Given the description of an element on the screen output the (x, y) to click on. 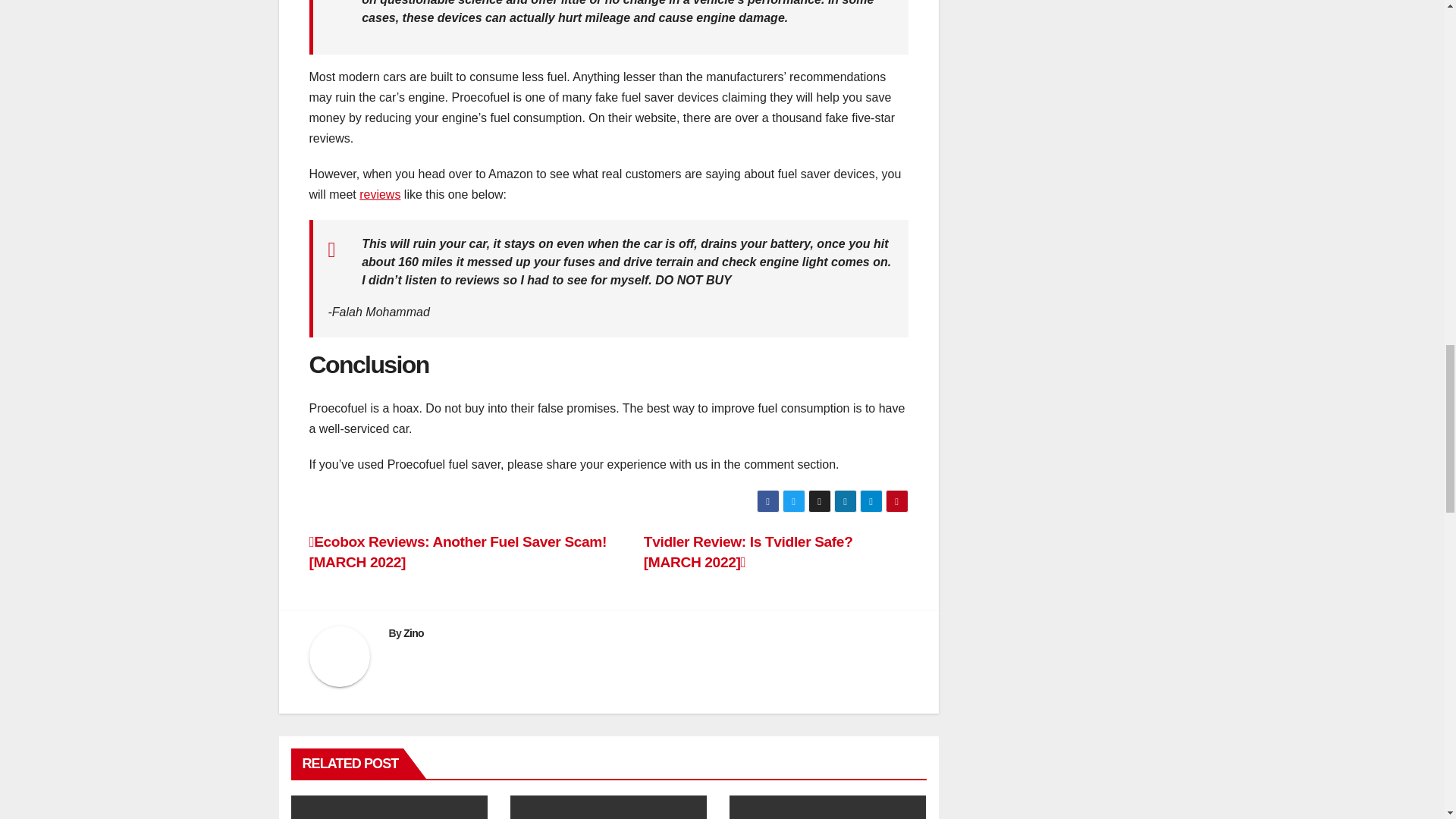
reviews (379, 194)
Zino (413, 633)
